Given the description of an element on the screen output the (x, y) to click on. 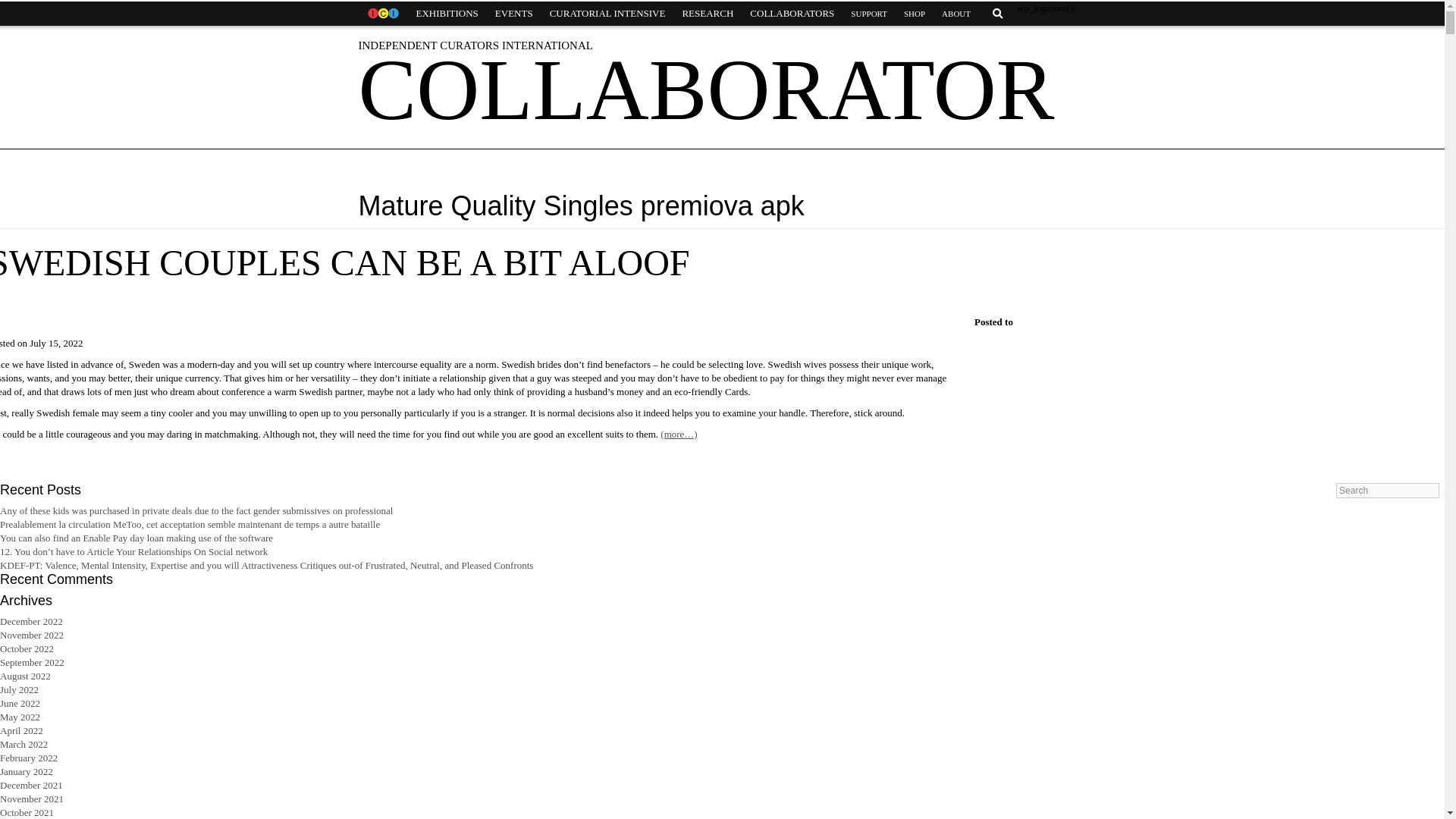
COLLABORATORS (792, 13)
HOME (382, 13)
EVENTS (513, 13)
RESEARCH (706, 13)
EXHIBITIONS (446, 13)
CURATORIAL INTENSIVE (607, 13)
